Given the description of an element on the screen output the (x, y) to click on. 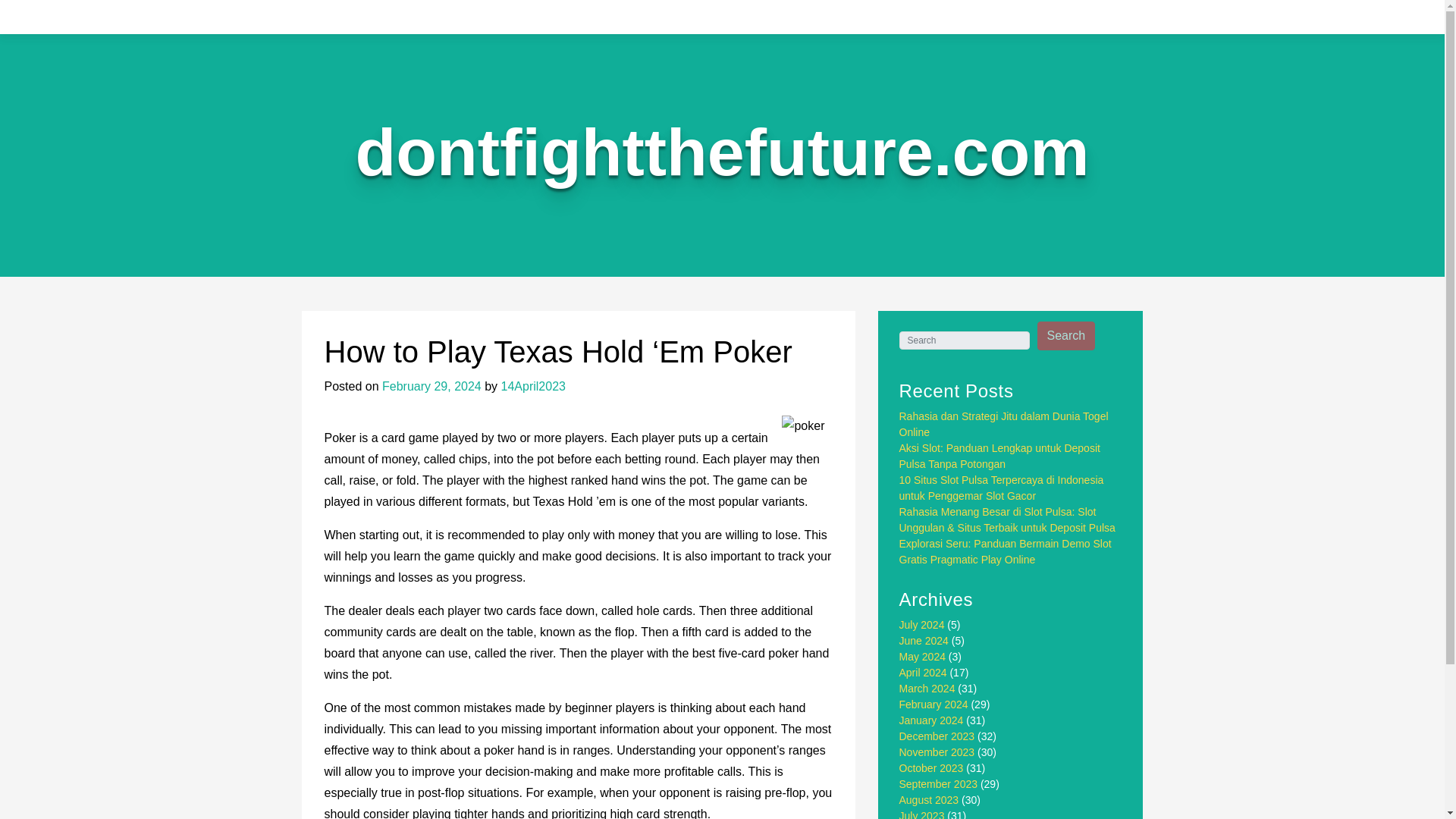
May 2024 (921, 656)
December 2023 (937, 736)
March 2024 (927, 688)
Rahasia dan Strategi Jitu dalam Dunia Togel Online (1003, 424)
June 2024 (924, 640)
July 2024 (921, 624)
September 2023 (938, 784)
January 2024 (931, 720)
February 2024 (933, 704)
Search (1066, 335)
February 29, 2024 (431, 386)
October 2023 (931, 767)
